Given the description of an element on the screen output the (x, y) to click on. 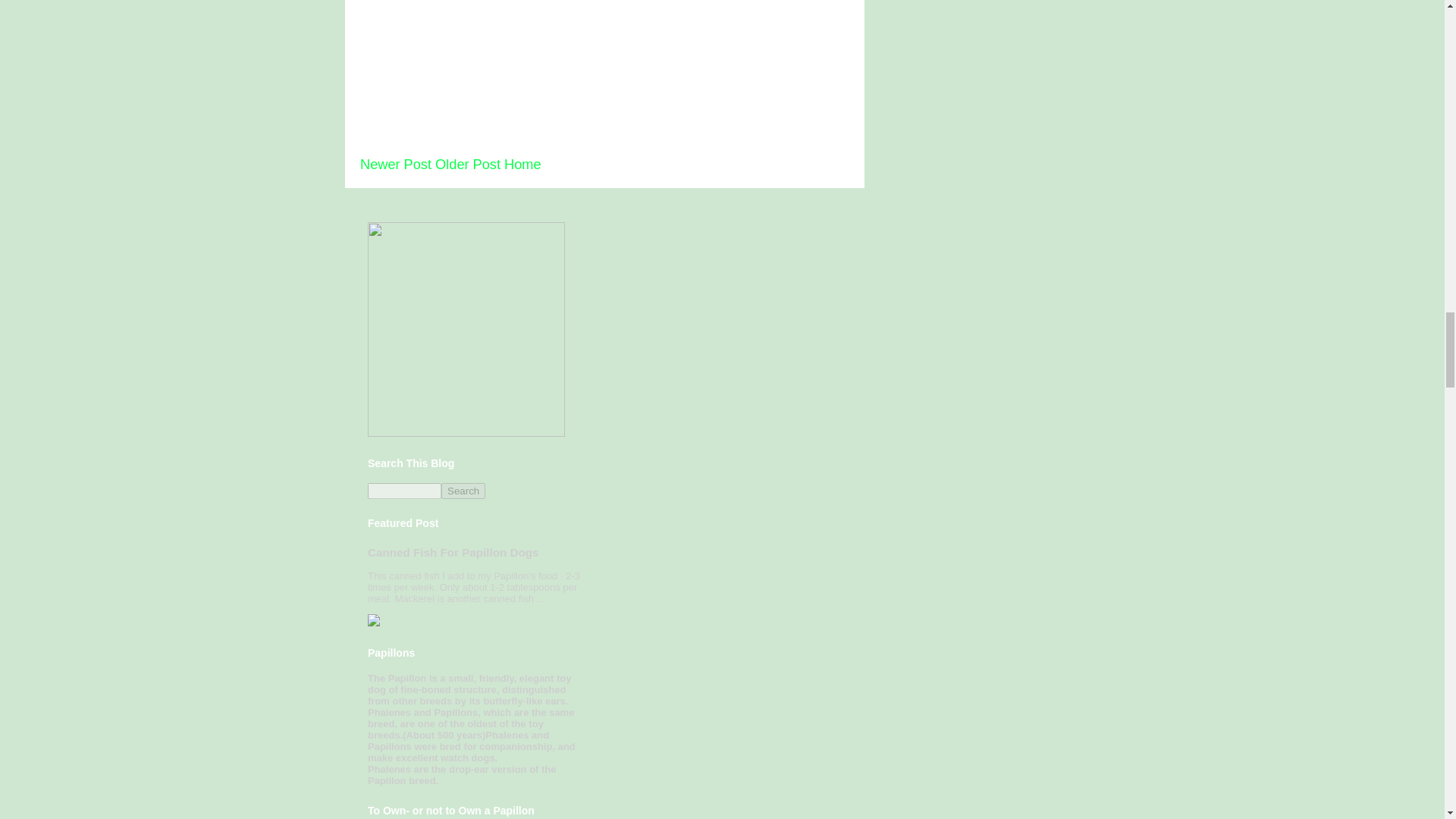
search (404, 490)
Newer Post (394, 164)
Older Post (467, 164)
Older Post (467, 164)
Canned Fish For Papillon Dogs (453, 552)
Search (462, 490)
search (462, 490)
Search (462, 490)
Search (462, 490)
Home (522, 164)
Advertisement (473, 67)
Newer Post (394, 164)
